Given the description of an element on the screen output the (x, y) to click on. 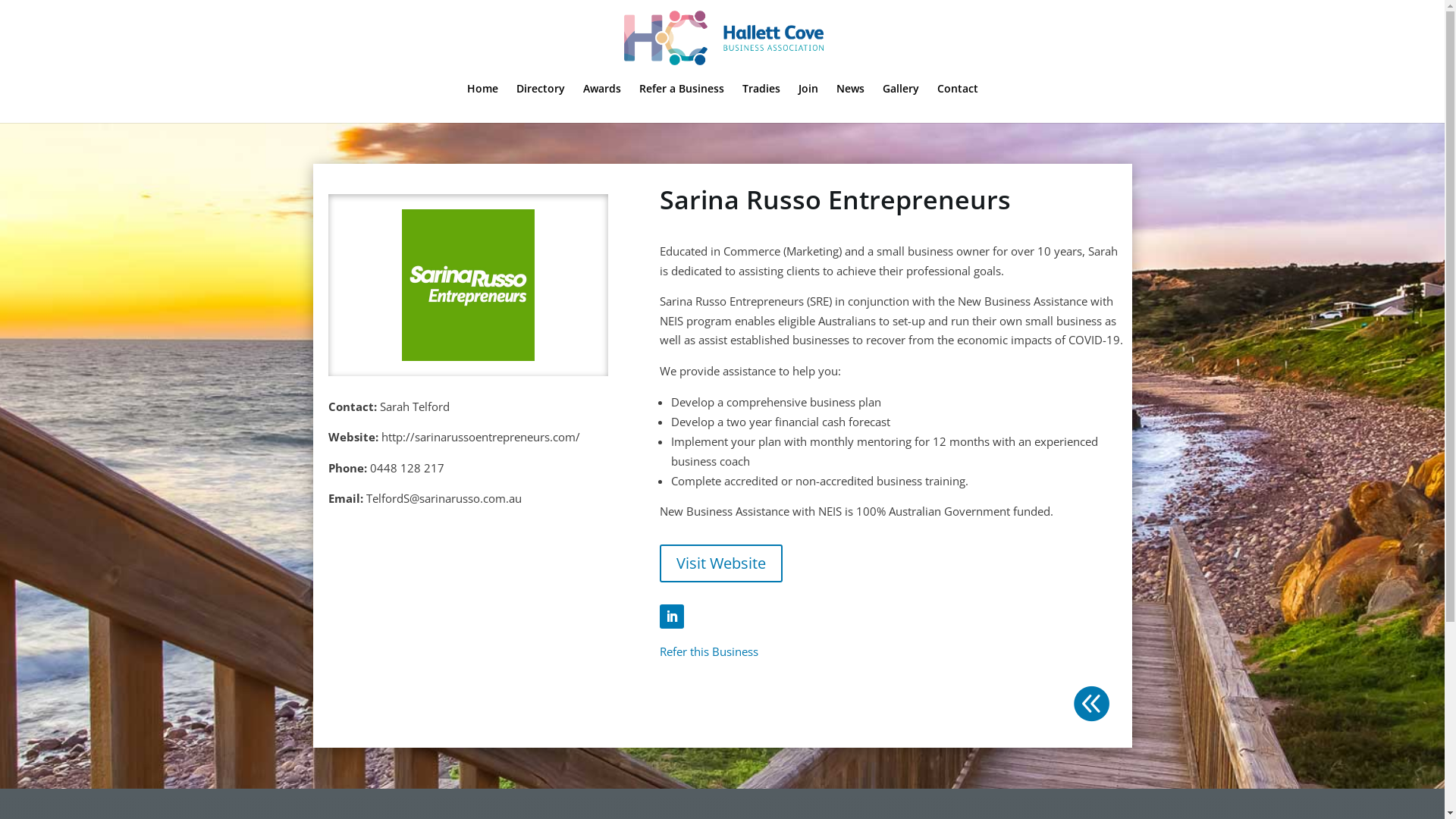
Home Element type: text (481, 95)
Refer this Business Element type: text (708, 650)
Visit Website Element type: text (720, 563)
Directory Element type: text (540, 95)
Gallery Element type: text (900, 95)
Join Element type: text (808, 95)
Contact Element type: text (956, 95)
Follow on LinkedIn Element type: hover (671, 616)
Refer a Business Element type: text (681, 95)
Tradies Element type: text (761, 95)
Awards Element type: text (601, 95)
News Element type: text (850, 95)
